Given the description of an element on the screen output the (x, y) to click on. 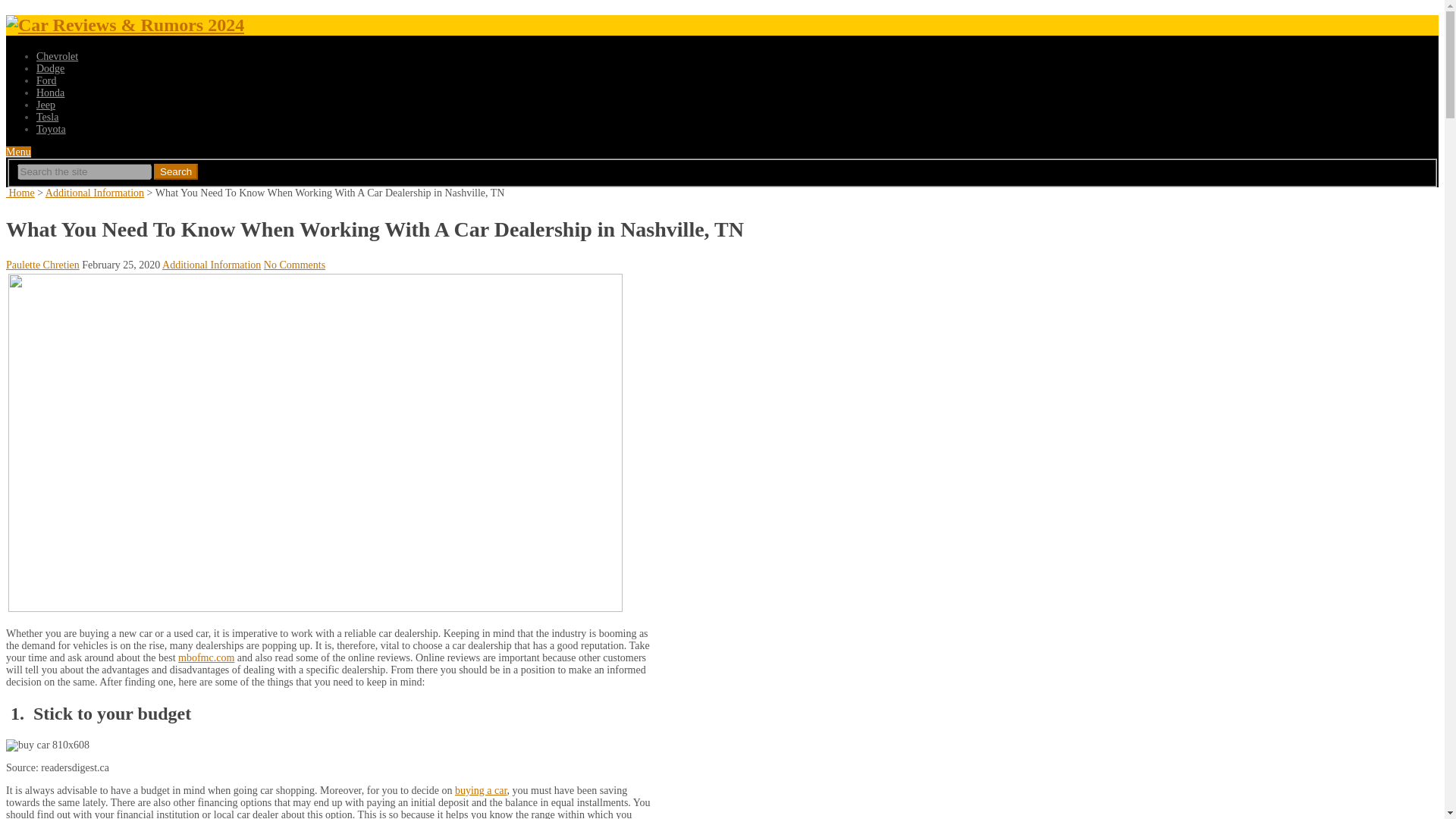
No Comments (293, 265)
Additional Information (94, 193)
Dodge (50, 68)
Honda (50, 92)
Search (176, 171)
Paulette Chretien (42, 265)
Search (176, 171)
Things you need to know when buying used car parts (480, 790)
Ford (46, 80)
Toyota (50, 129)
 Home (19, 193)
Chevrolet (57, 56)
Jeep (45, 104)
mbofmc.com (205, 657)
Menu (17, 152)
